Given the description of an element on the screen output the (x, y) to click on. 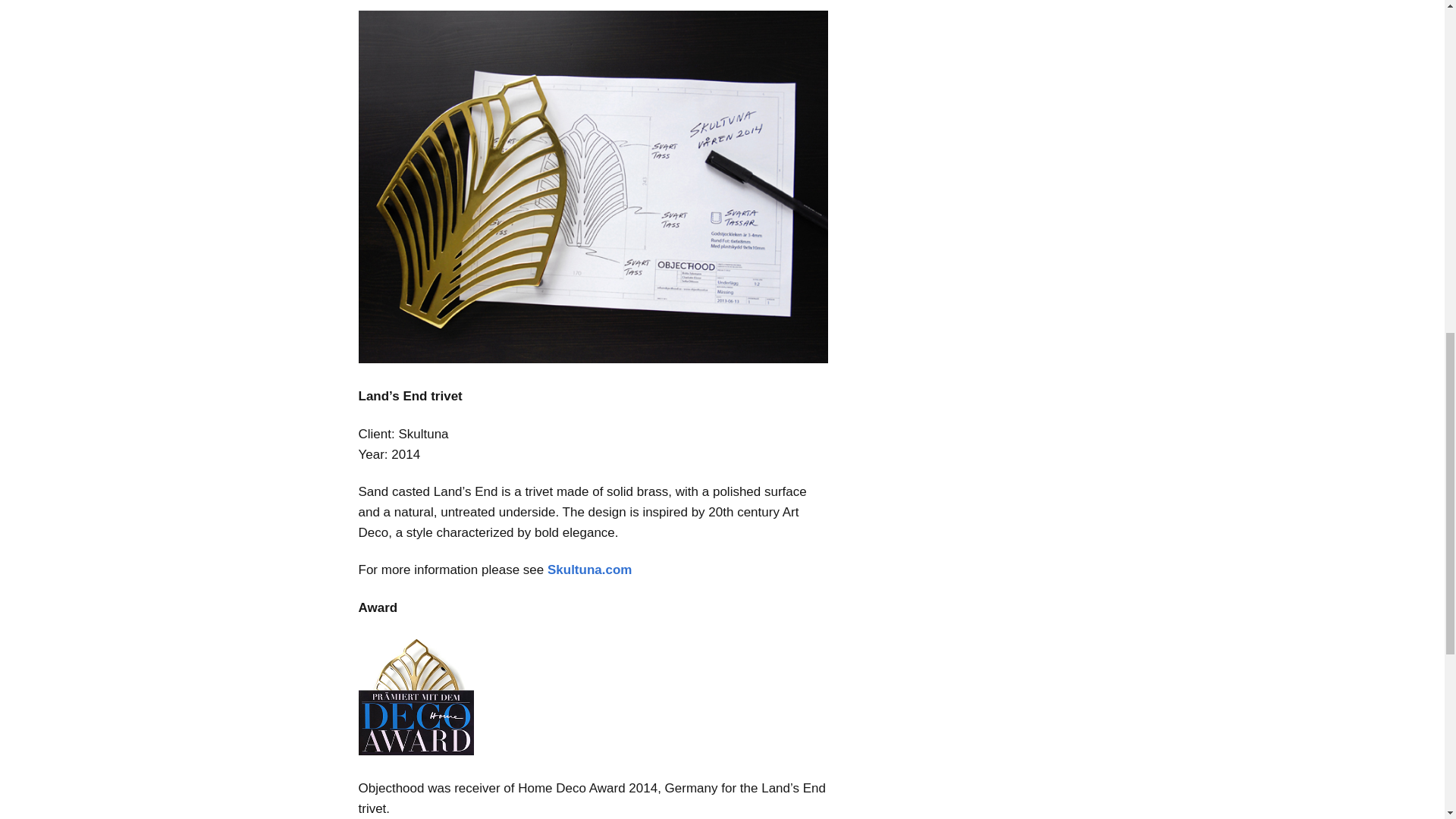
Skultuna.com (589, 569)
